Given the description of an element on the screen output the (x, y) to click on. 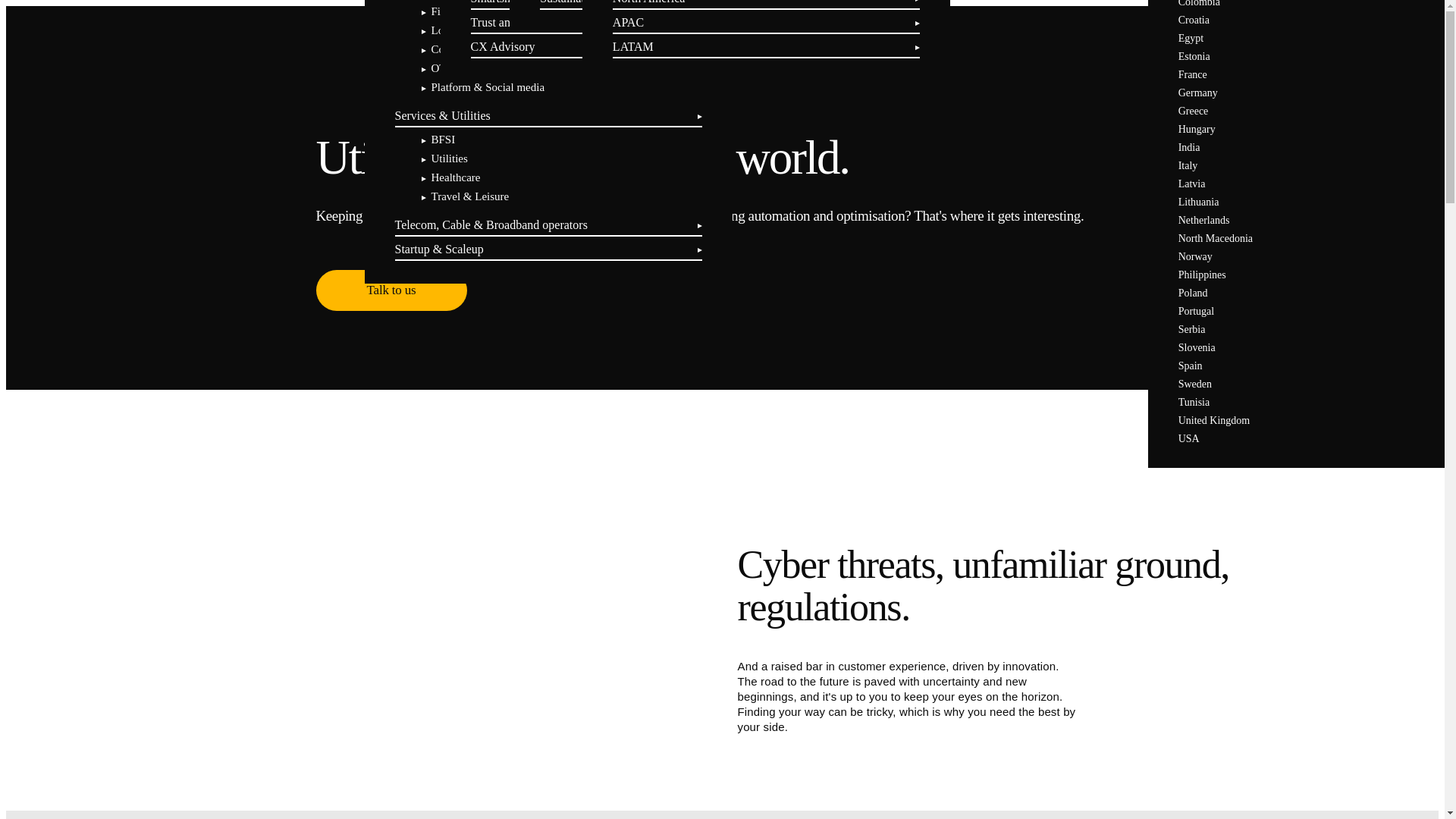
FinTech (448, 10)
BFSI (442, 139)
Smartshoring services (524, 2)
APAC (627, 21)
Sustainability (573, 2)
Utilities (448, 158)
Colombia (1198, 3)
Trust and Safety (510, 21)
OTT (441, 68)
North America (648, 2)
CX Advisory (502, 46)
Healthcare (455, 177)
Croatia (1193, 19)
Logistics (450, 30)
LATAM (632, 46)
